Given the description of an element on the screen output the (x, y) to click on. 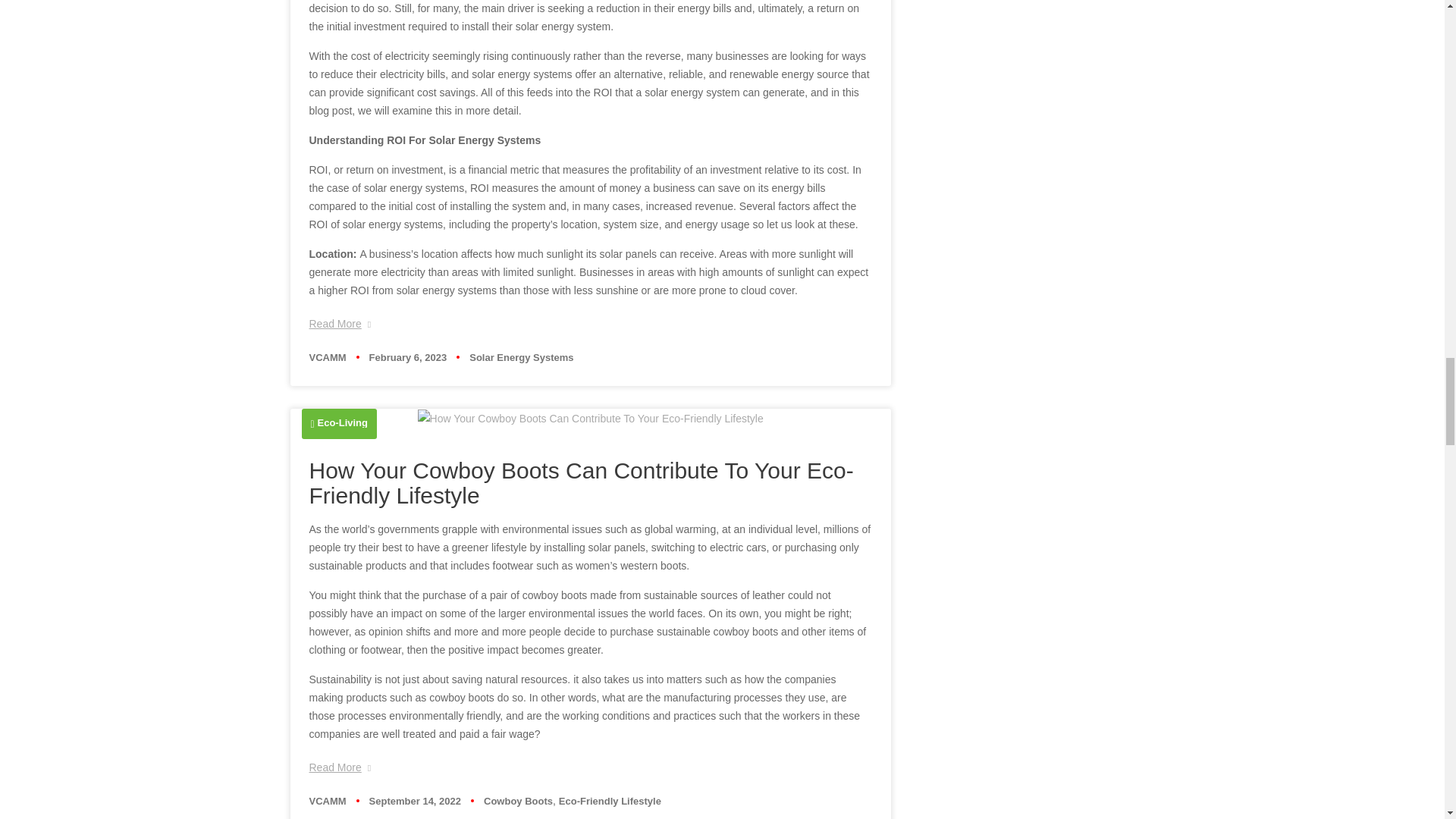
September 14, 2022 (415, 800)
Read More (339, 323)
February 6, 2023 (407, 357)
Read More (339, 767)
Solar Energy Systems (520, 357)
VCAMM (327, 357)
VCAMM (327, 800)
Eco-Living (342, 422)
